Given the description of an element on the screen output the (x, y) to click on. 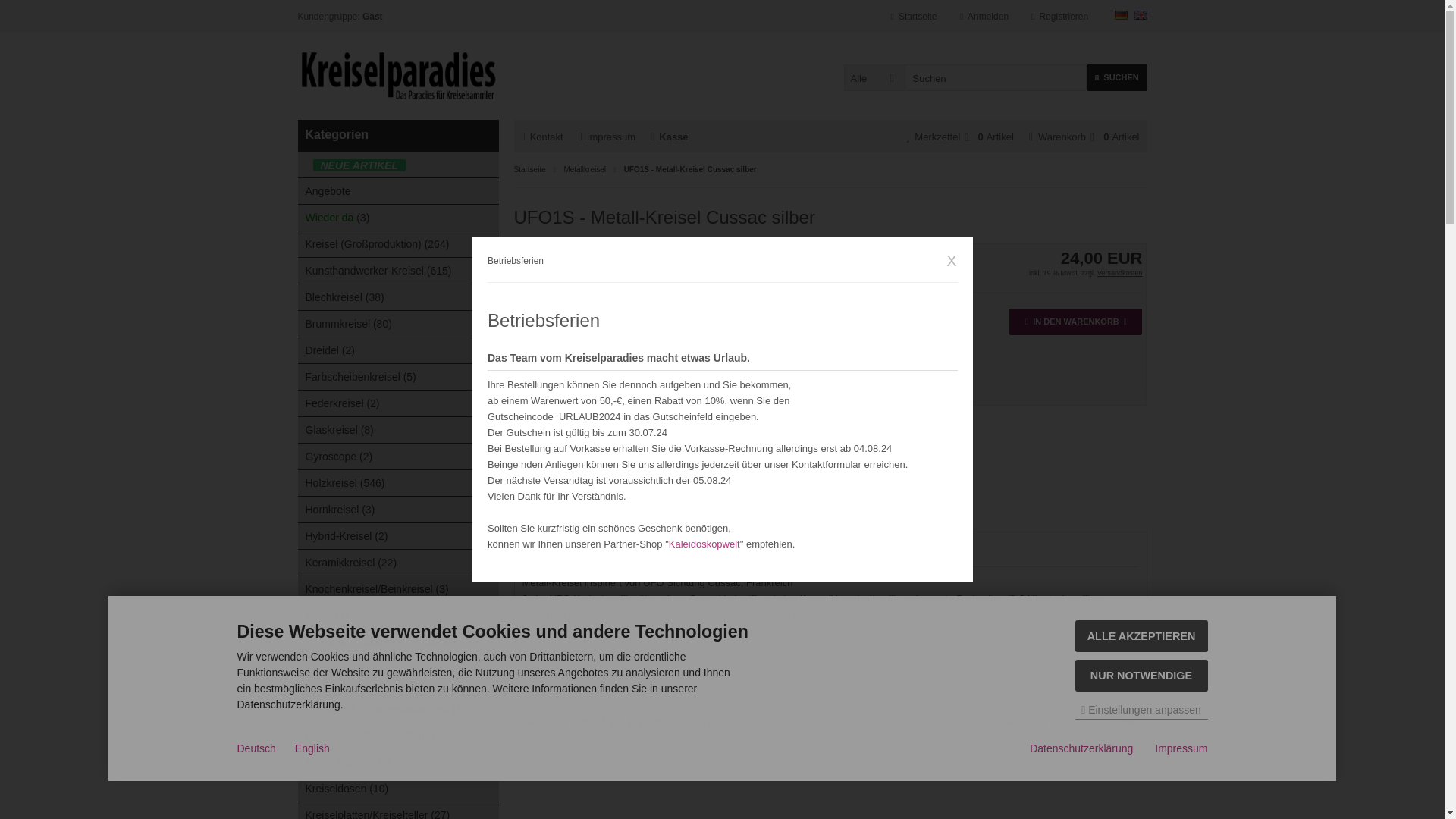
English (1140, 14)
Artikeldatenblatt drucken (812, 337)
Kasse (668, 136)
 Alle (873, 77)
Information (1119, 272)
Startseite (914, 16)
Rezension schreiben (812, 359)
Metallkreisel (584, 169)
Kasse (668, 136)
UFO1S - Metall-Kreisel Cussac silber (603, 334)
Startseite (914, 16)
Anmelden (984, 16)
submit (16, 7)
Registrieren (1058, 16)
Versandkosten (1119, 272)
